Given the description of an element on the screen output the (x, y) to click on. 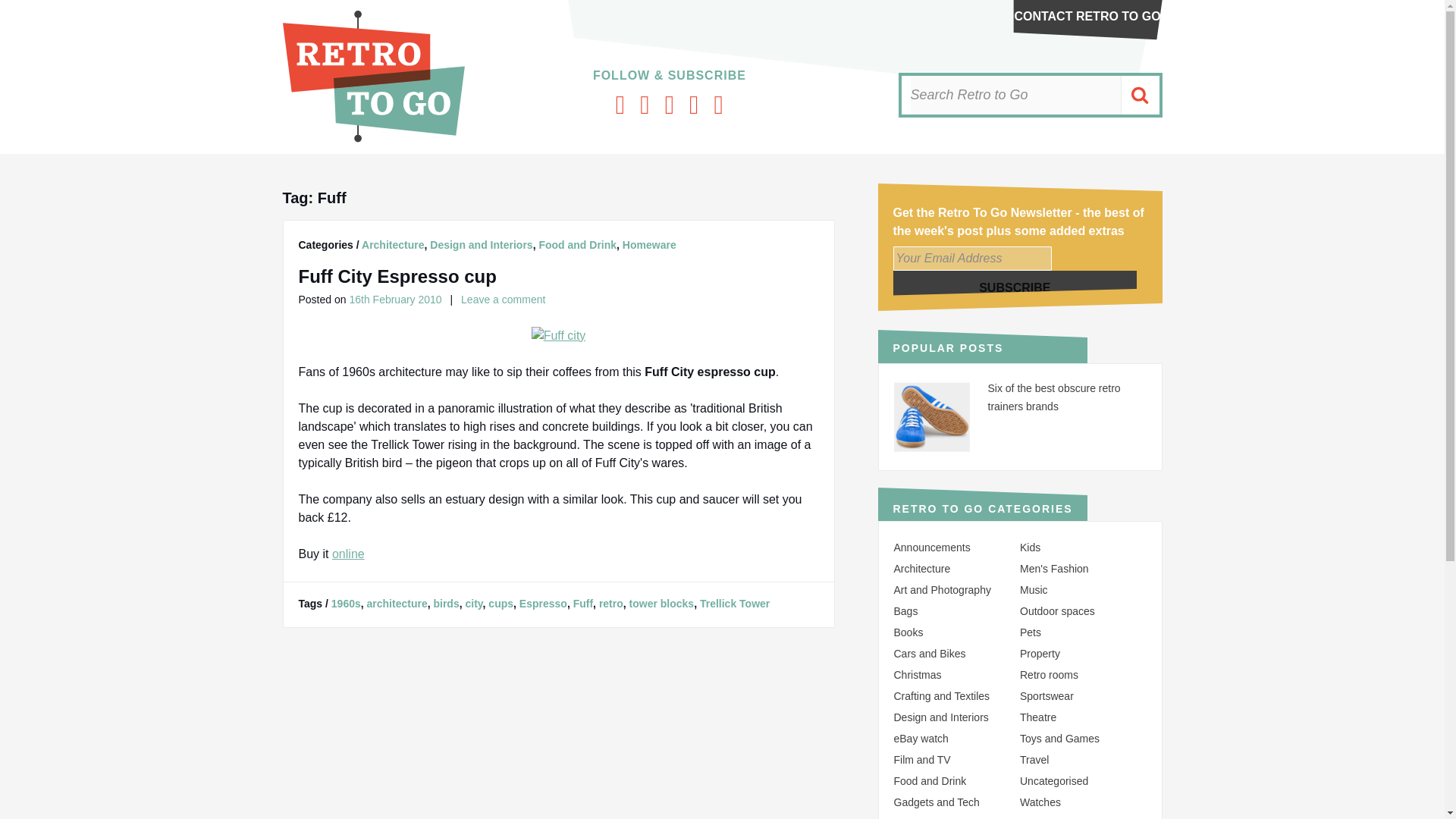
retro (610, 603)
Retro to Go (373, 137)
Food and Drink (576, 244)
Subscribe (1015, 286)
Fuff City Espresso cup (397, 276)
Homeware (650, 244)
cups (500, 603)
online (348, 553)
city (472, 603)
CONTACT RETRO TO GO (1086, 15)
Fuff city (558, 335)
architecture (397, 603)
Design and Interiors (480, 244)
Search Retro to Go (1015, 95)
